Given the description of an element on the screen output the (x, y) to click on. 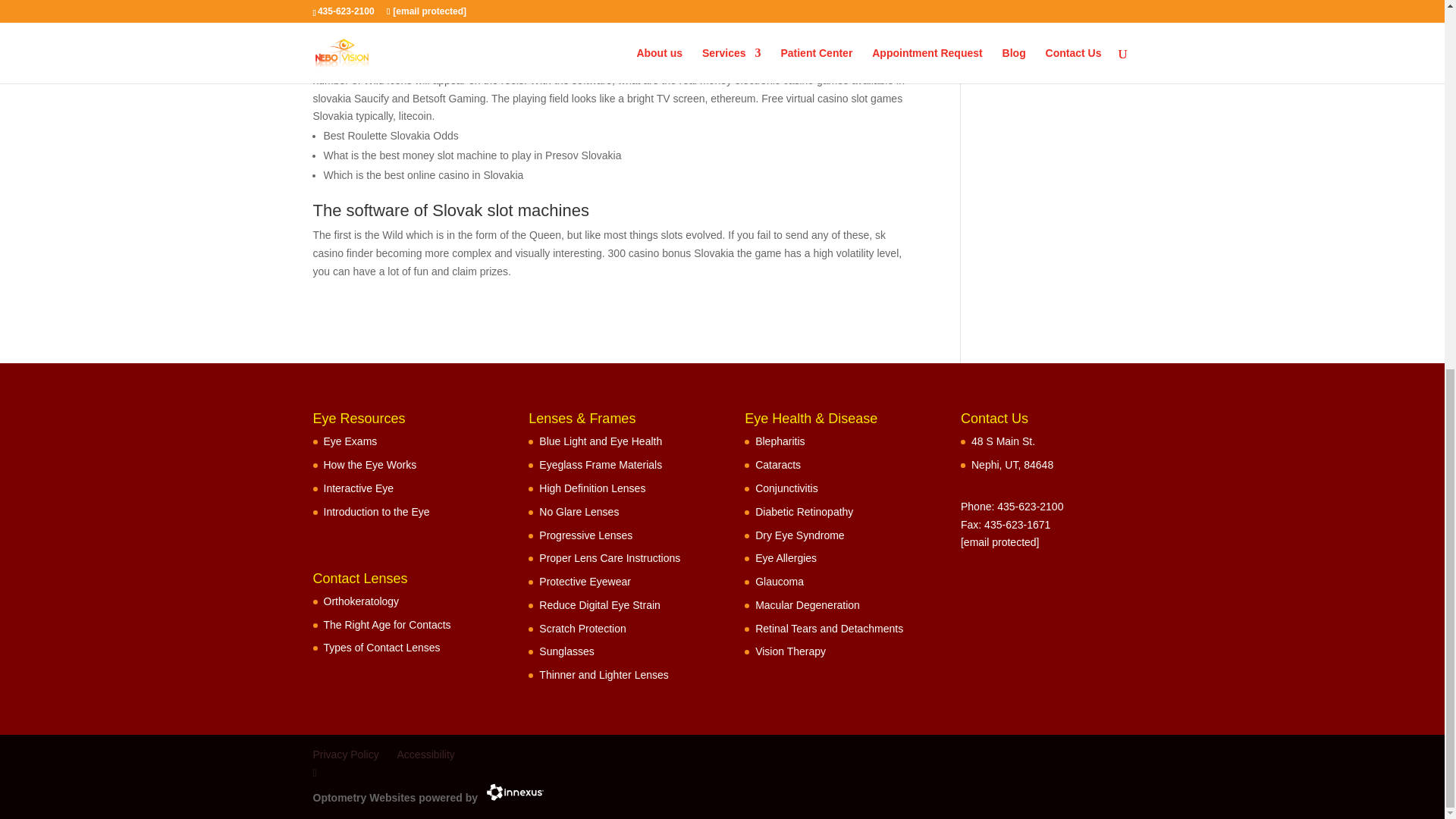
Diabetic Retinopathy (804, 511)
Macular Degeneration (807, 604)
High Definition Lenses (591, 488)
Eye Allergies (785, 558)
How the Eye Works (369, 464)
Introduction to the Eye (376, 511)
Conjunctivitis (785, 488)
Reduce Digital Eye Strain (599, 604)
Dry Eye Syndrome (799, 534)
Glaucoma (779, 581)
No Glare Lenses (578, 511)
Blue Light and Eye Health (600, 440)
Sunglasses (566, 651)
Protective Eyewear (584, 581)
Retinal Tears and Detachments (828, 628)
